Given the description of an element on the screen output the (x, y) to click on. 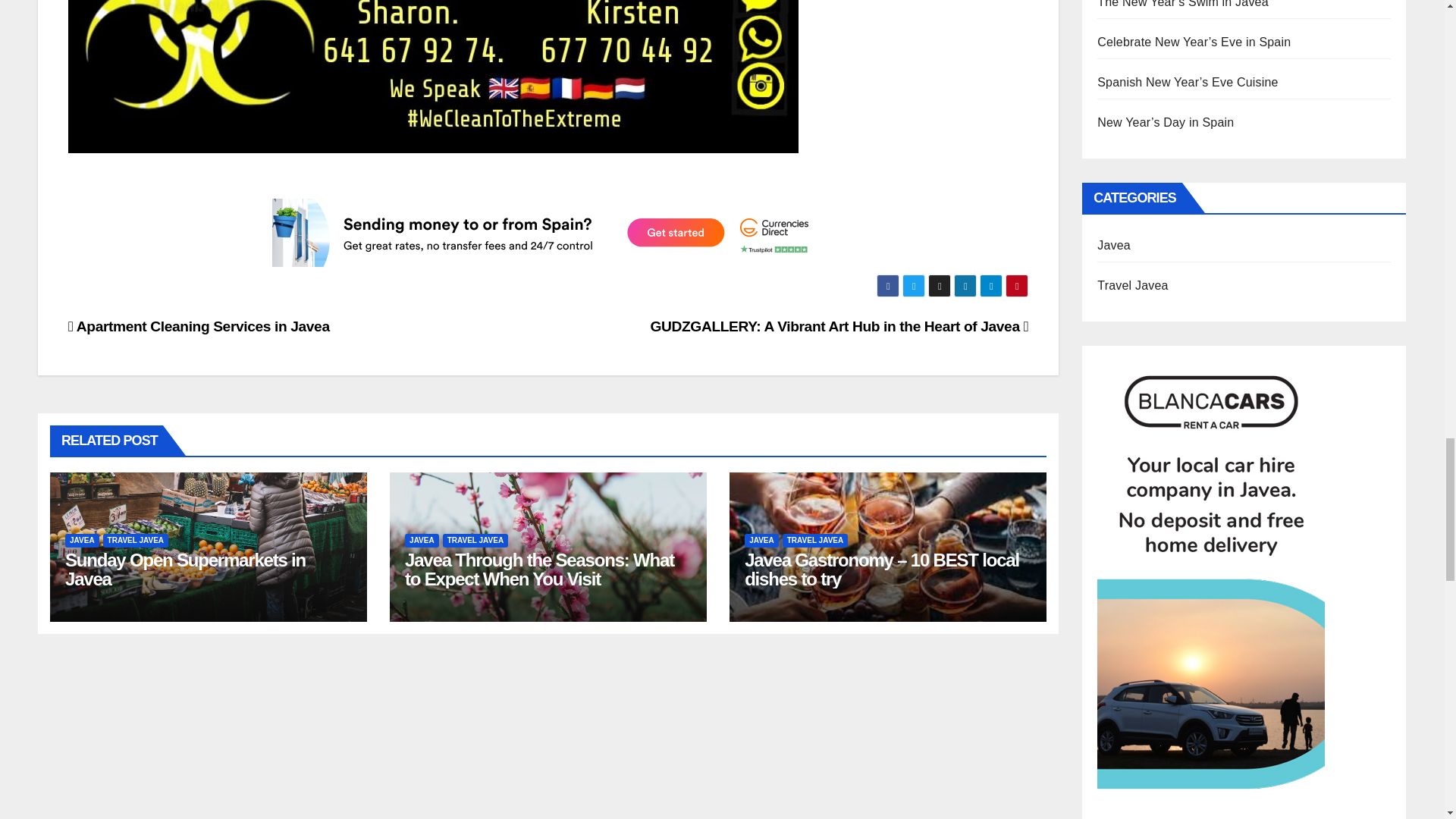
Permalink to: Sunday Open Supermarkets in Javea (185, 568)
